Given the description of an element on the screen output the (x, y) to click on. 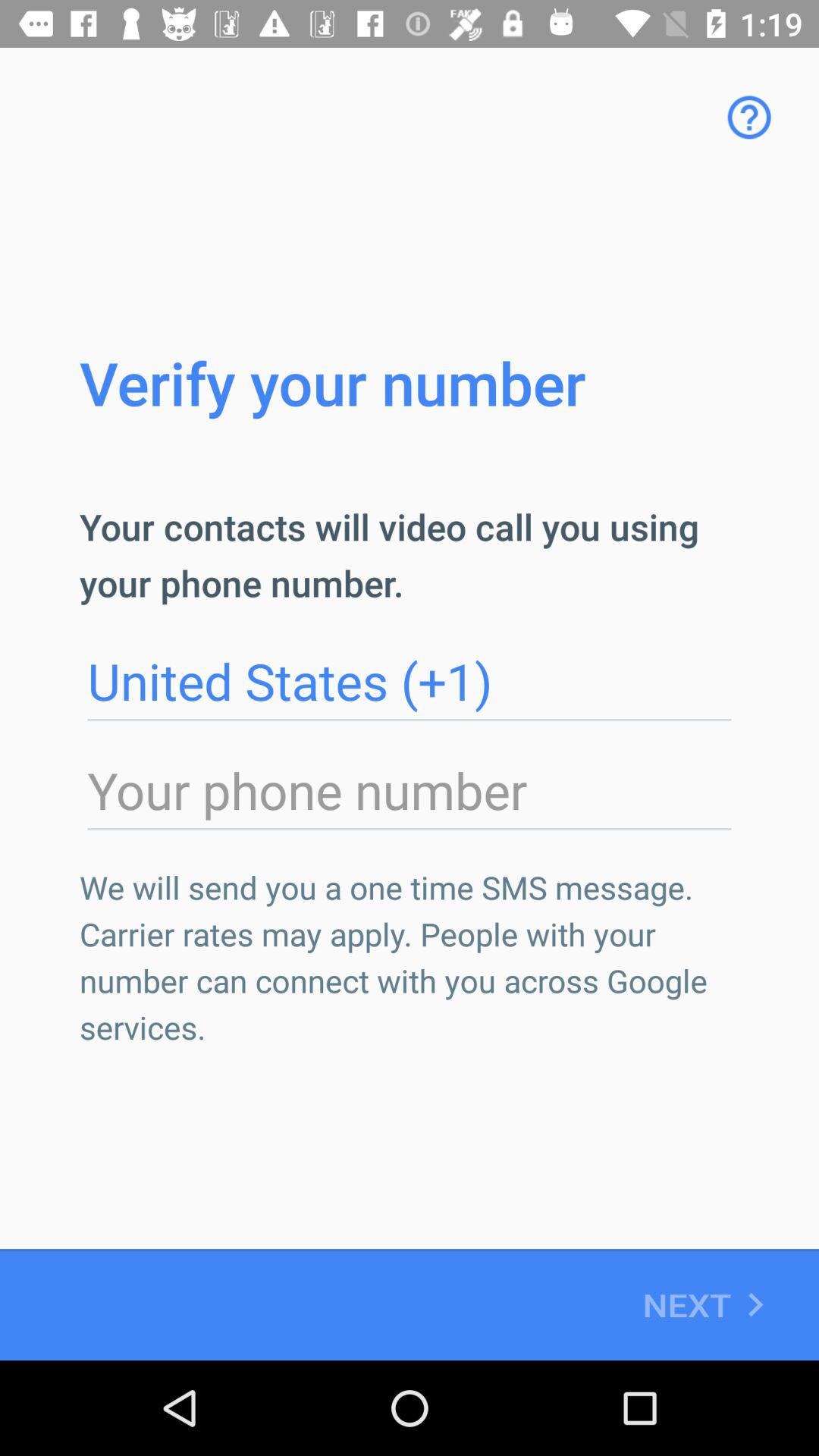
phone number (409, 790)
